Given the description of an element on the screen output the (x, y) to click on. 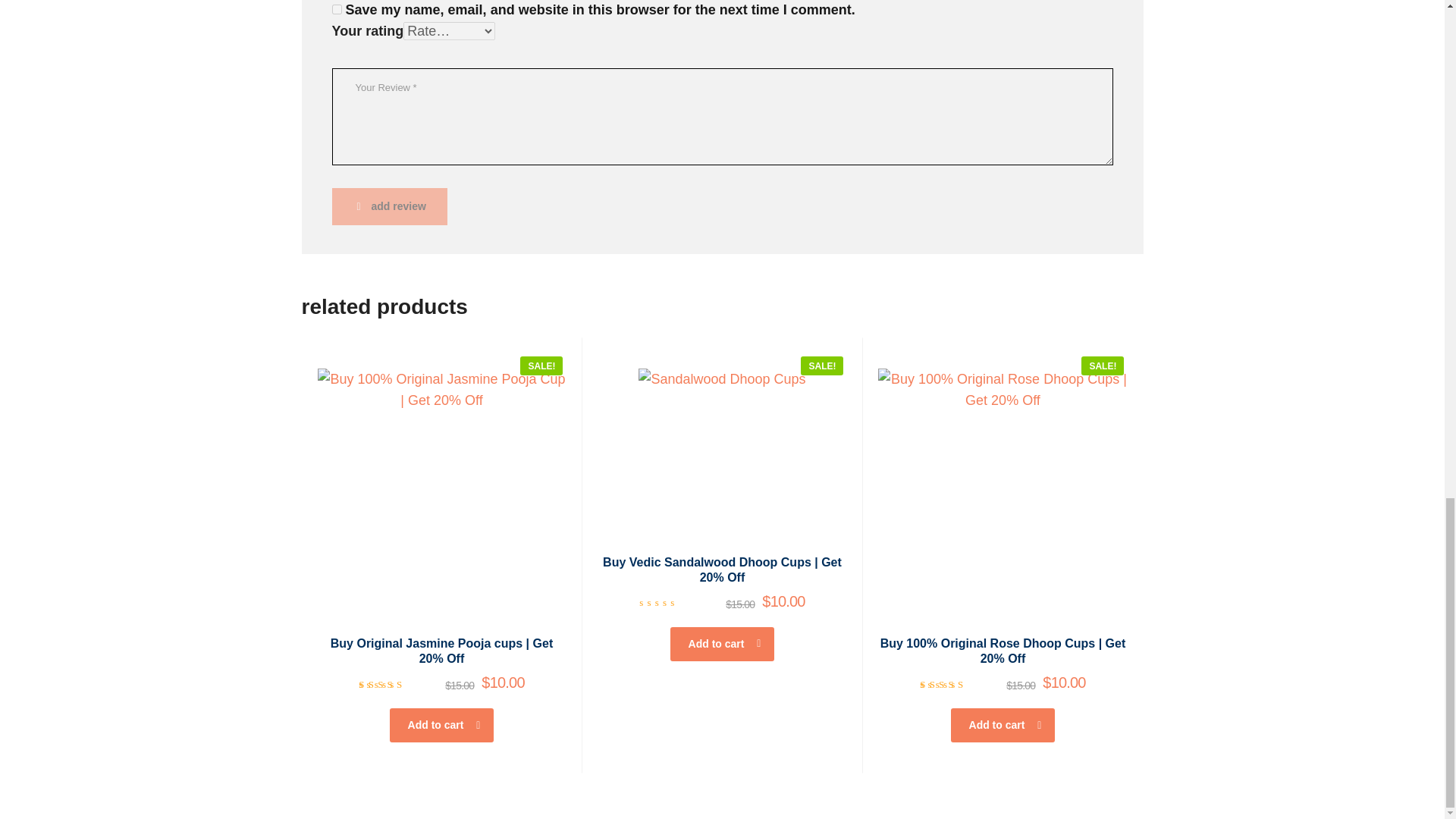
yes (336, 9)
